Given the description of an element on the screen output the (x, y) to click on. 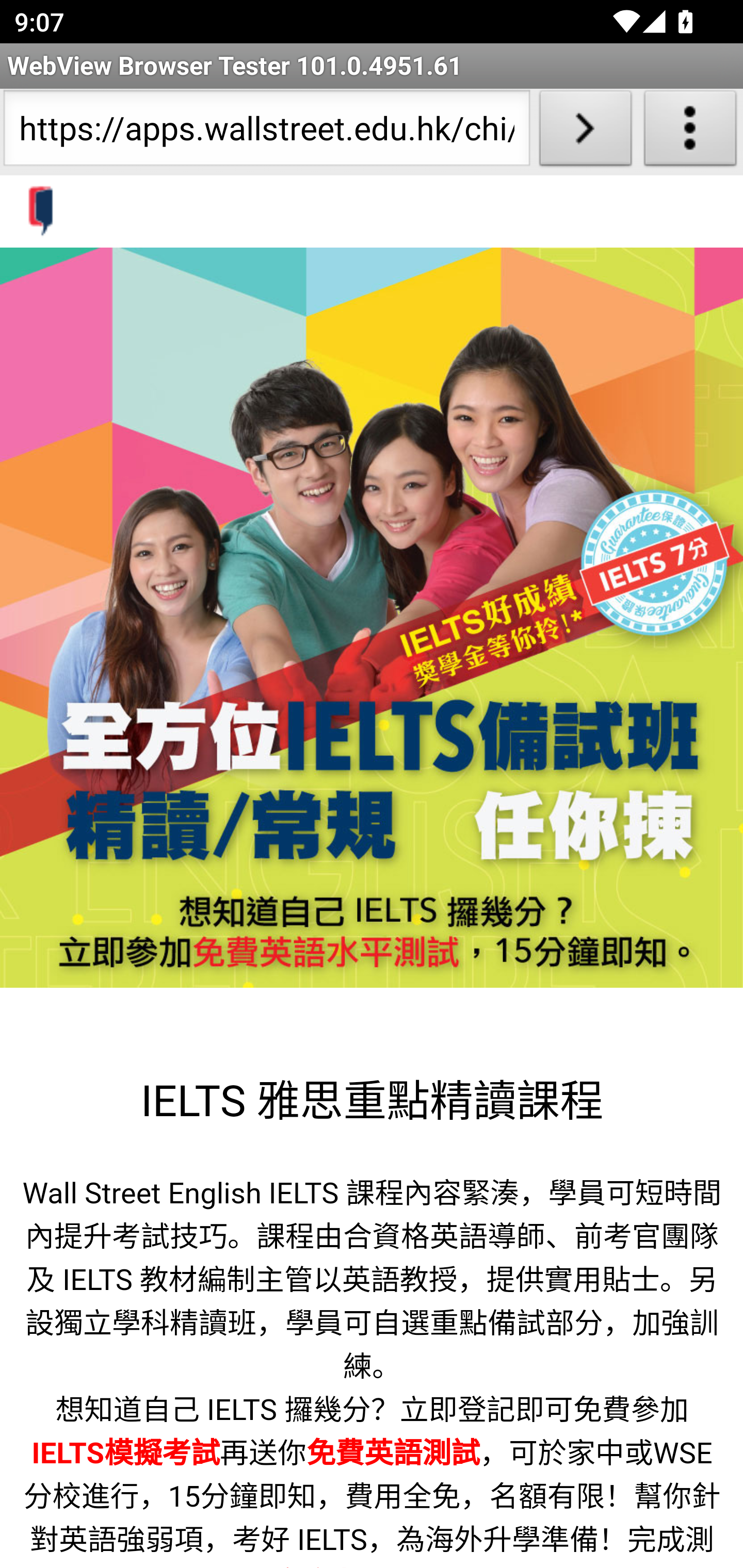
Load URL (585, 132)
About WebView (690, 132)
